Given the description of an element on the screen output the (x, y) to click on. 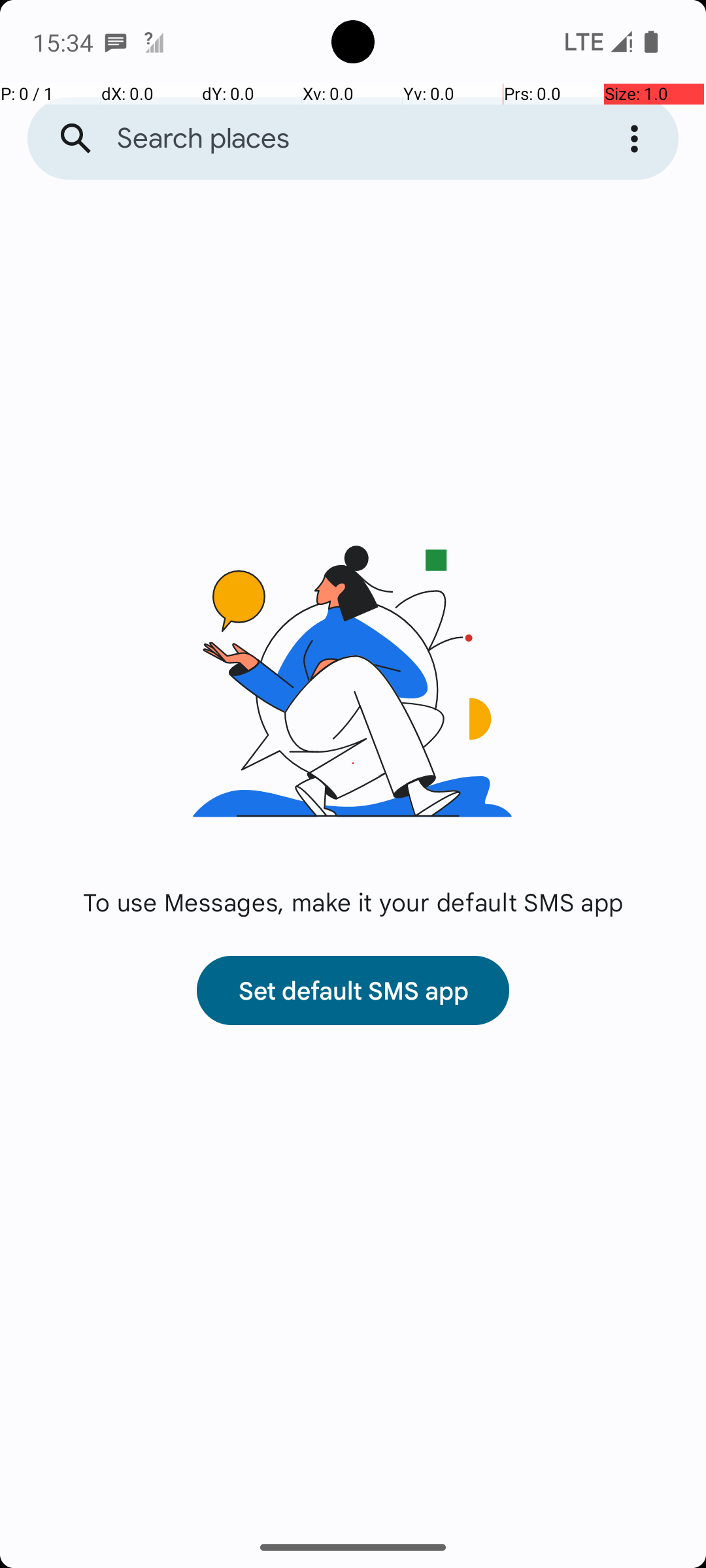
To use Messages, make it your default SMS app Element type: android.widget.TextView (353, 901)
Set default SMS app Element type: android.widget.Button (352, 990)
